Given the description of an element on the screen output the (x, y) to click on. 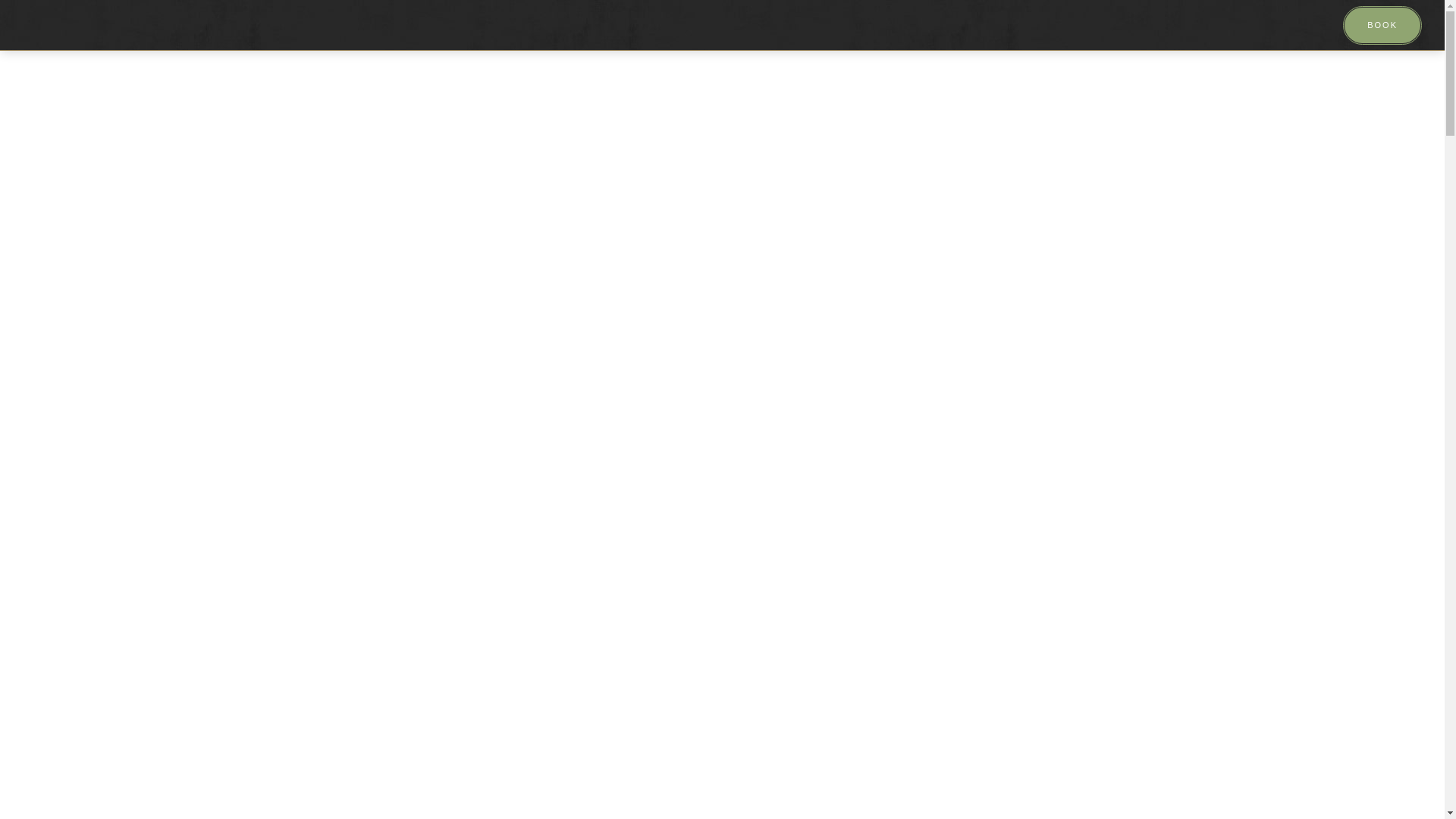
Submit (22, 7)
BOOK (1382, 25)
